Given the description of an element on the screen output the (x, y) to click on. 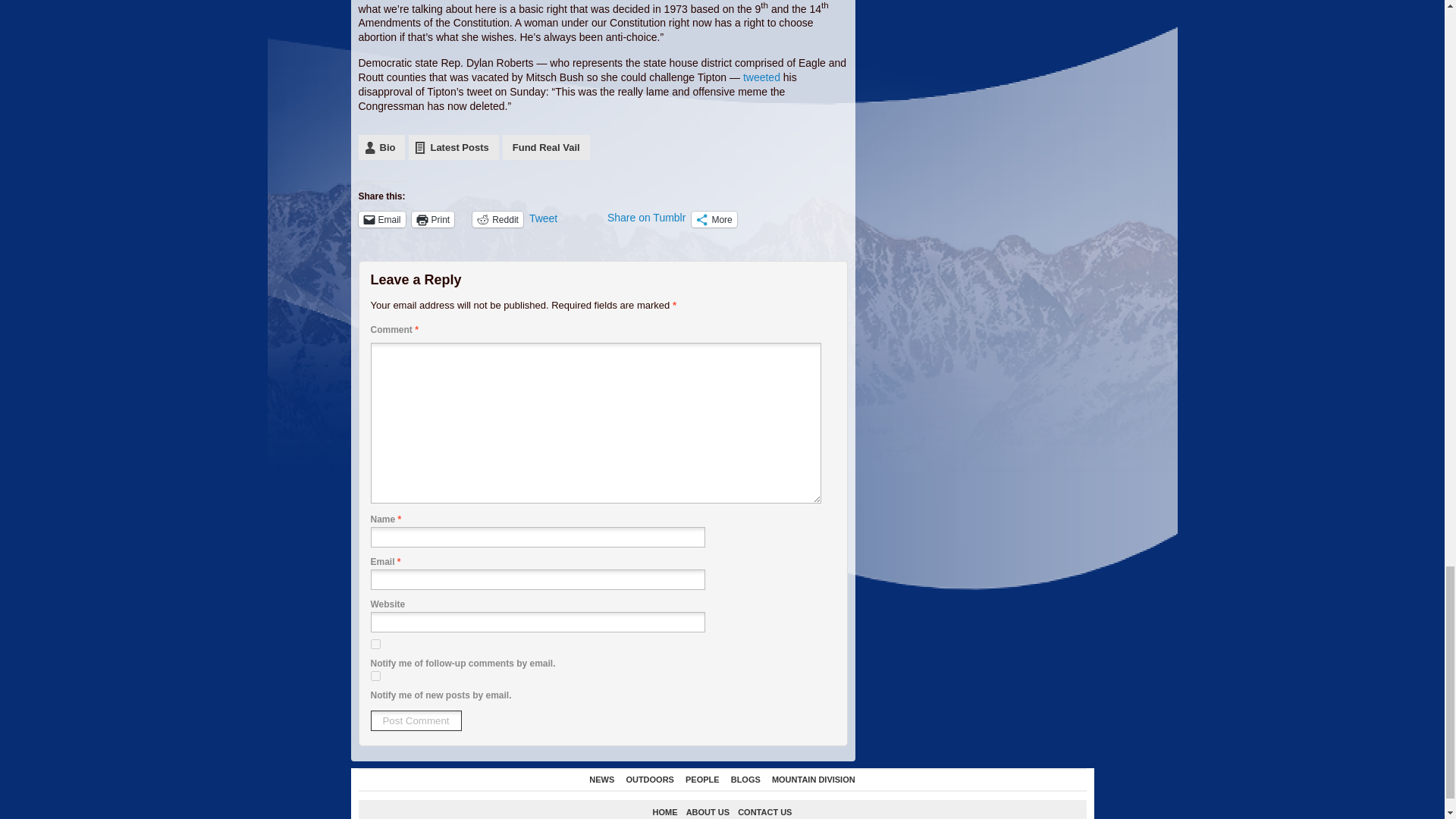
Fund Real Vail (545, 147)
Click to print (433, 219)
Tweet (565, 218)
Latest Posts (453, 147)
Click to email a link to a friend (381, 219)
Post Comment (415, 720)
Print (433, 219)
Share on Tumblr (646, 218)
More (713, 219)
Share on Tumblr (646, 218)
